Given the description of an element on the screen output the (x, y) to click on. 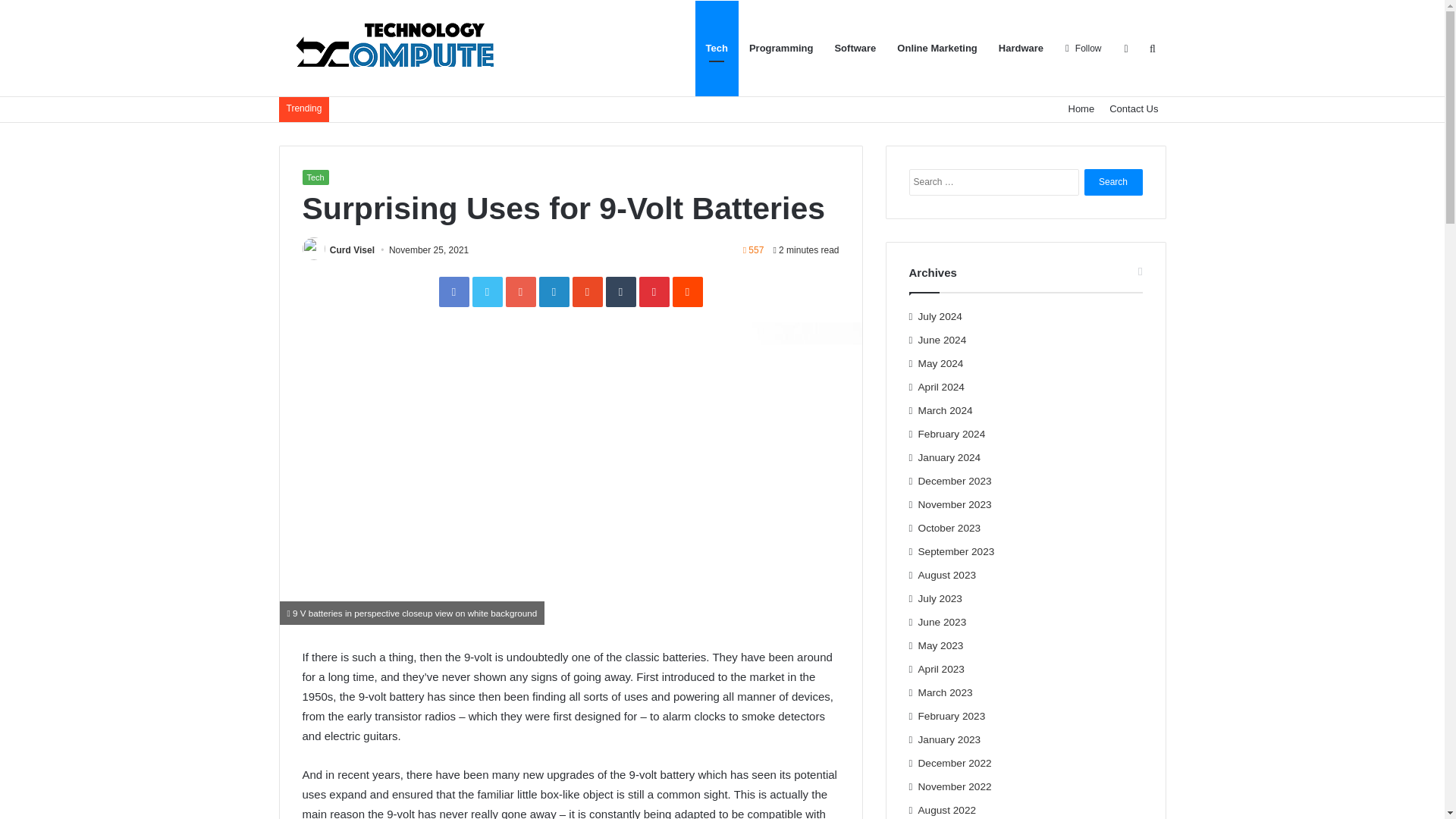
StumbleUpon (587, 291)
Home (1080, 108)
Programming (781, 48)
Search (1113, 181)
Facebook (453, 291)
Tech (315, 177)
technology compute (392, 48)
Tumblr (619, 291)
Curd Visel (352, 249)
Online Marketing (936, 48)
Search (1113, 181)
Twitter (486, 291)
LinkedIn (553, 291)
Reddit (686, 291)
Contact Us (1134, 108)
